Given the description of an element on the screen output the (x, y) to click on. 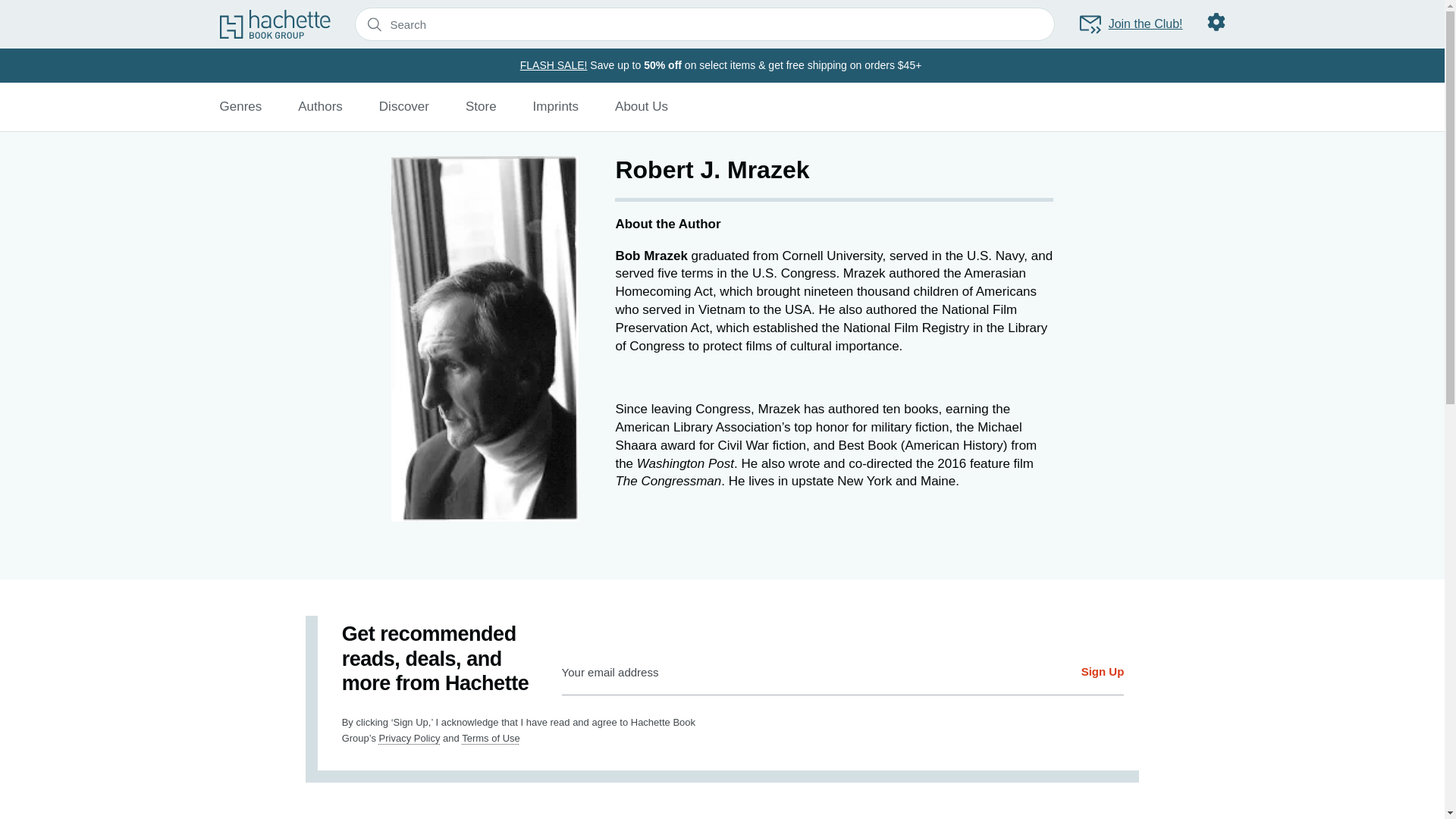
Go to Hachette Book Group home (274, 23)
Genres (240, 106)
FLASH SALE! (553, 64)
Join the Club! (1130, 24)
